Given the description of an element on the screen output the (x, y) to click on. 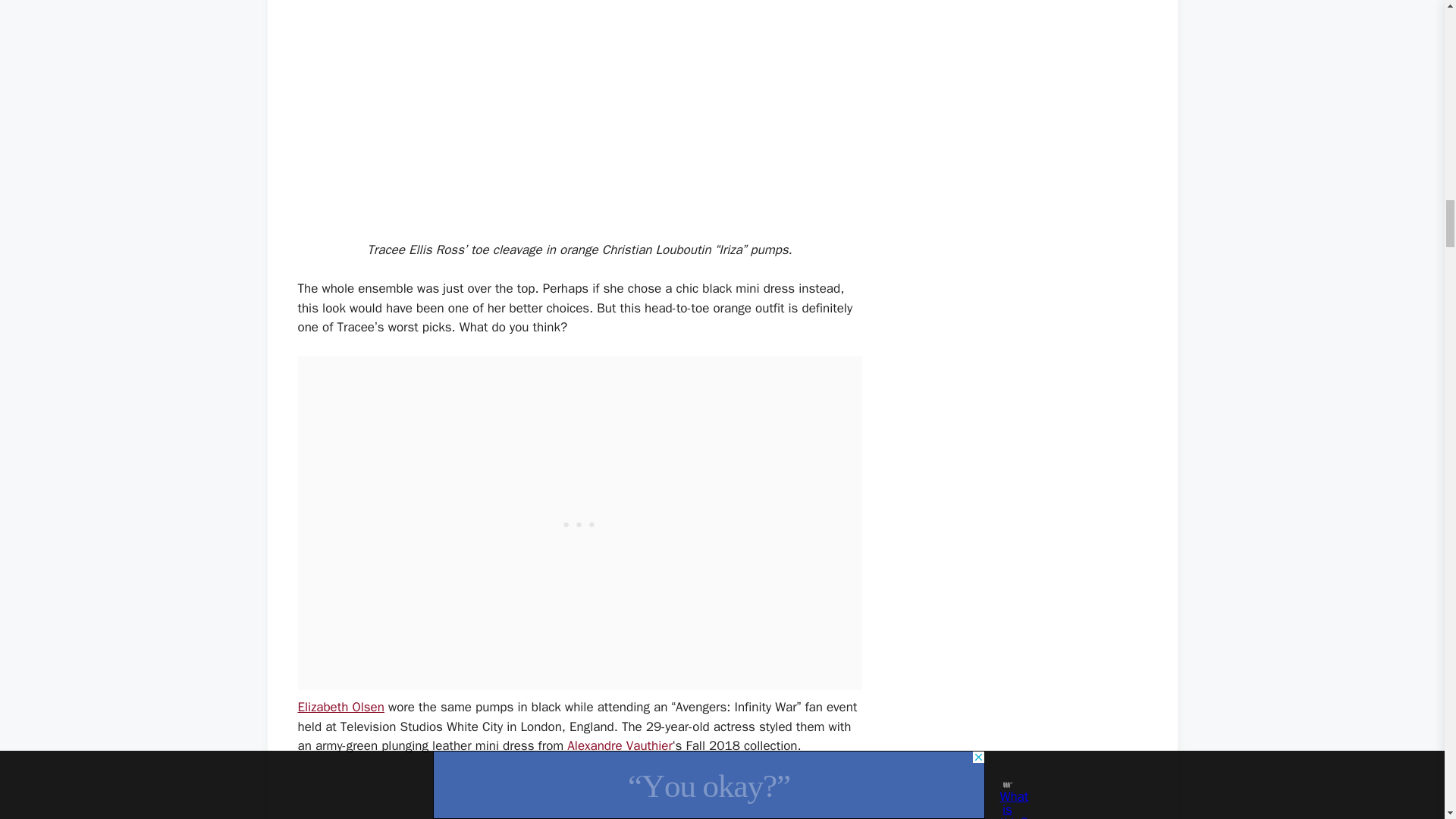
Elizabeth Olsen (340, 706)
Alexandre Vauthier (619, 745)
